Given the description of an element on the screen output the (x, y) to click on. 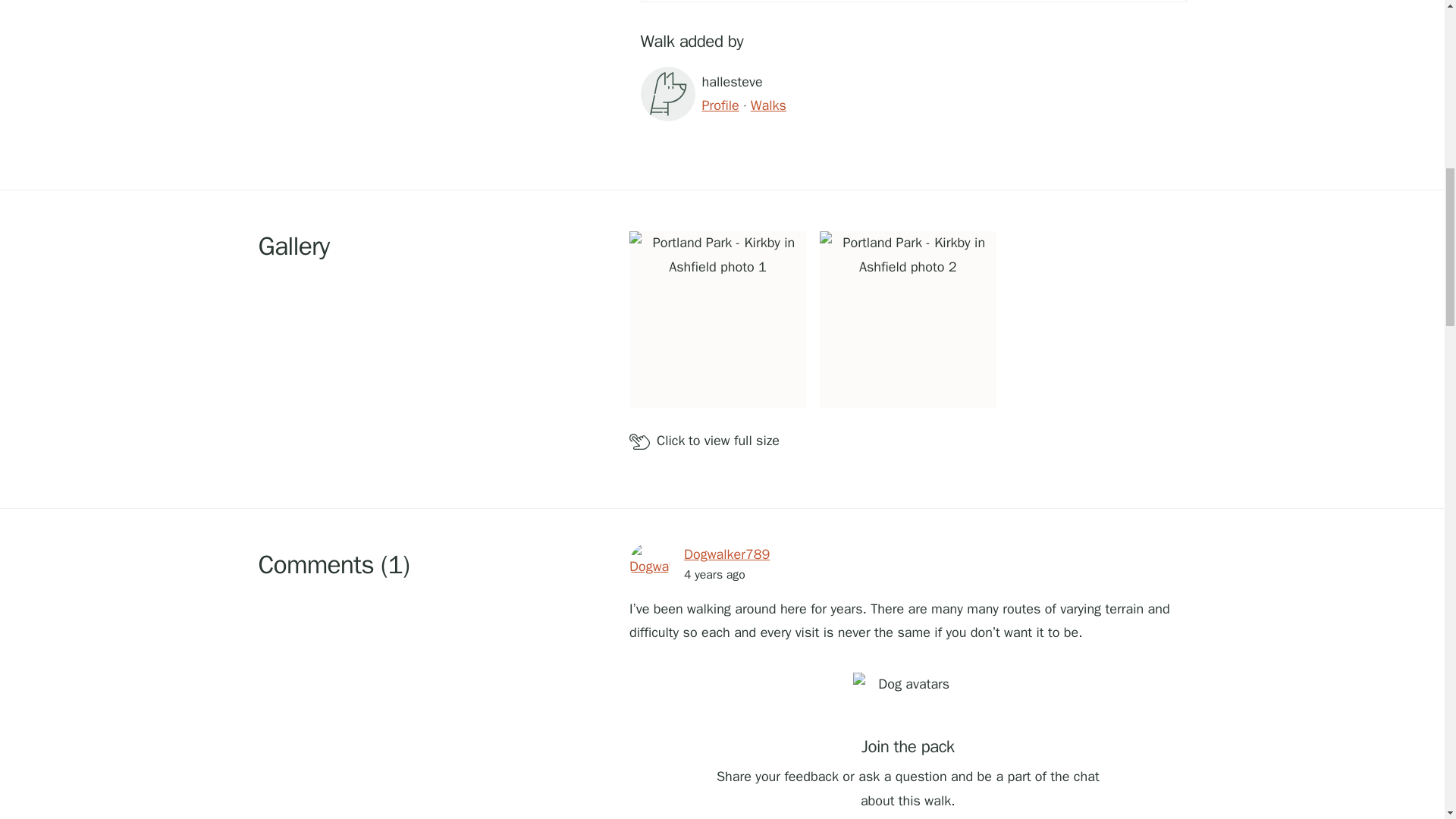
Walks (768, 105)
Dogwalker789 (727, 554)
Profile (720, 105)
Portland Park - Kirkby in Ashfield photo 2 (907, 318)
Portland Park - Kirkby in Ashfield photo 1 (717, 318)
Dog avatars (907, 700)
